Given the description of an element on the screen output the (x, y) to click on. 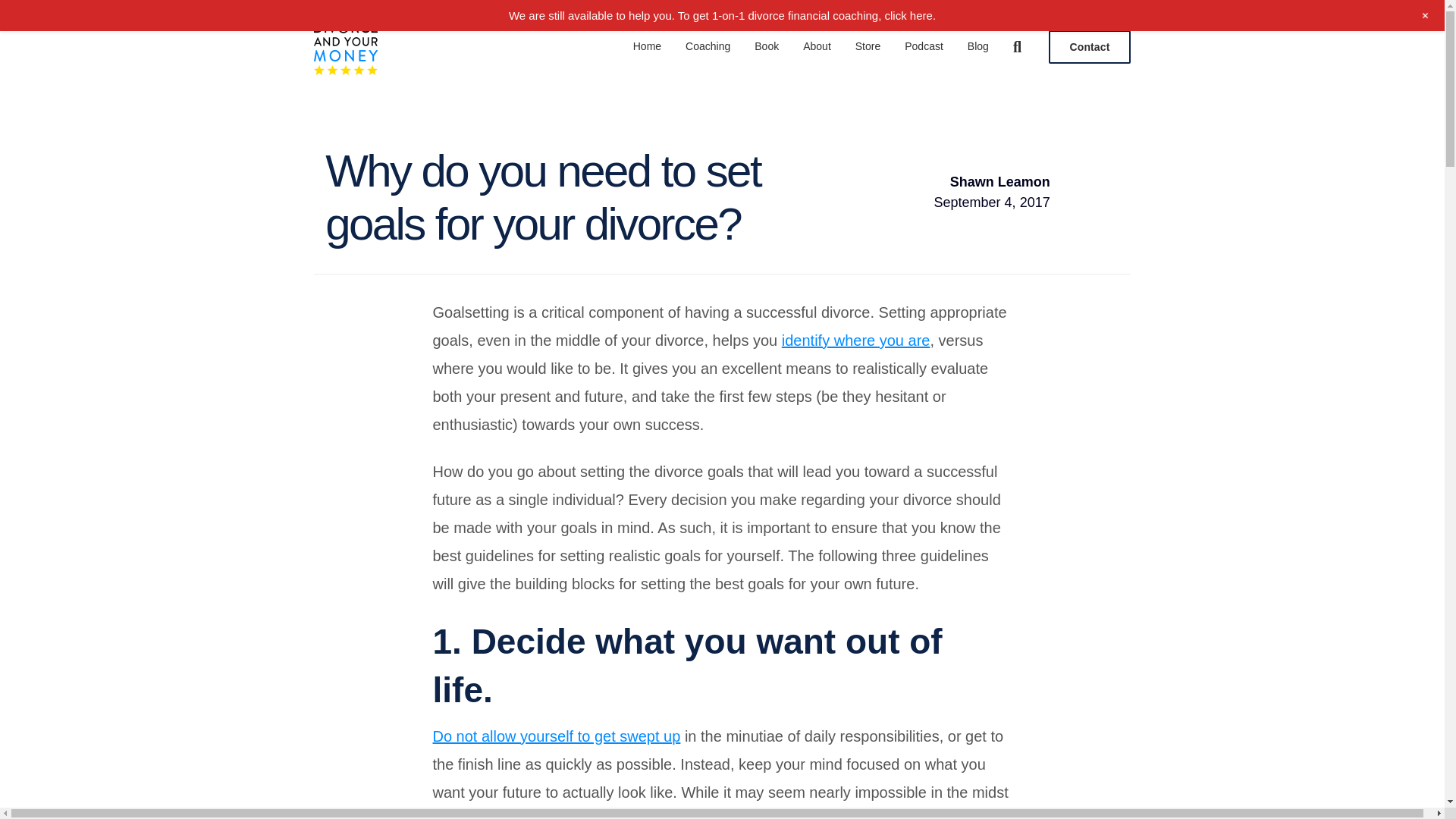
Home (646, 46)
Blog (978, 46)
Store (867, 46)
Coaching (707, 46)
Contact (1089, 46)
About (816, 46)
identify where you are (855, 340)
Do not allow yourself to get swept up (555, 736)
Book (766, 46)
Podcast (923, 46)
